Given the description of an element on the screen output the (x, y) to click on. 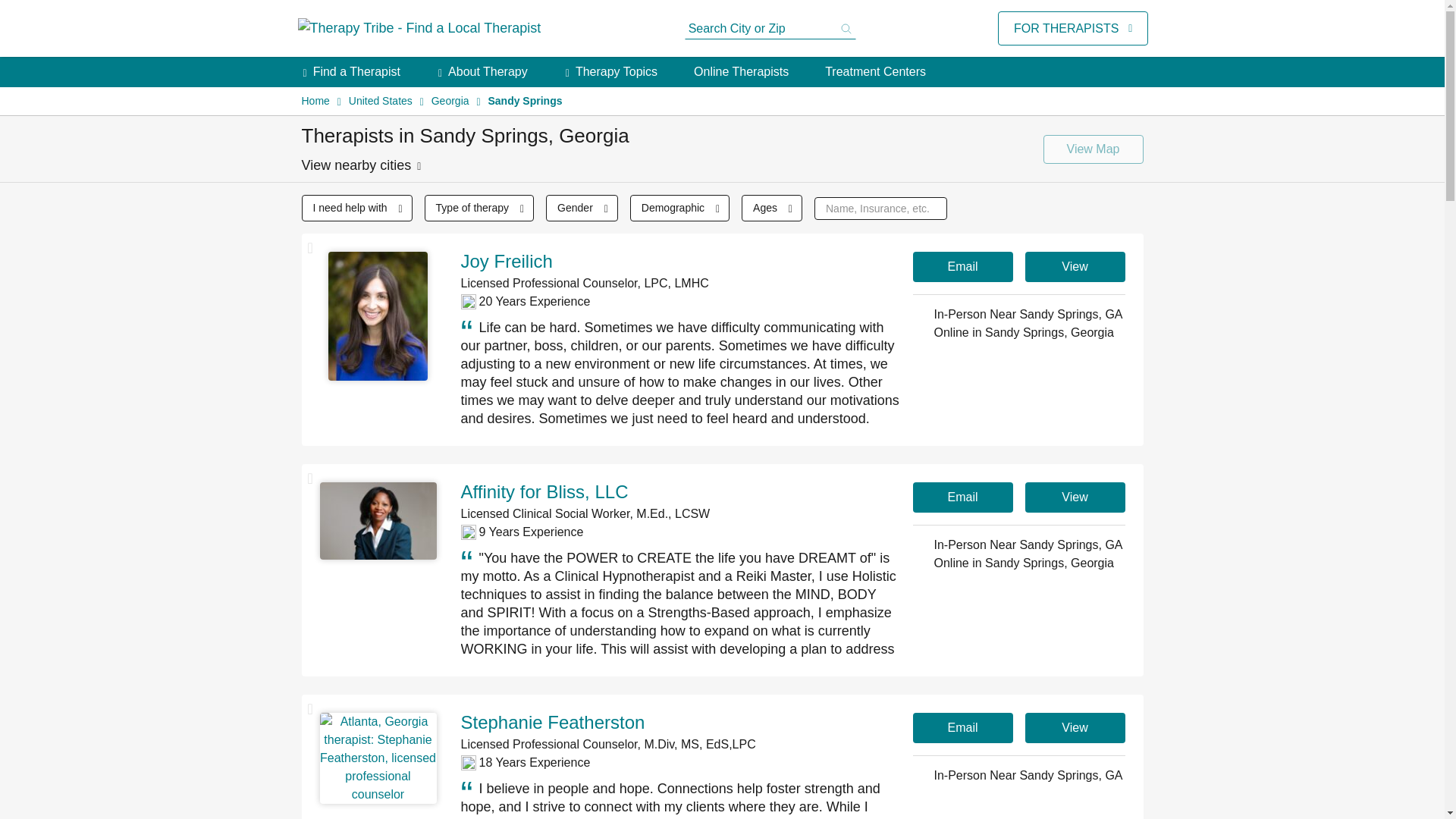
TherapyTribe (418, 28)
Find a Therapist (356, 71)
FOR THERAPISTS (1065, 28)
